Given the description of an element on the screen output the (x, y) to click on. 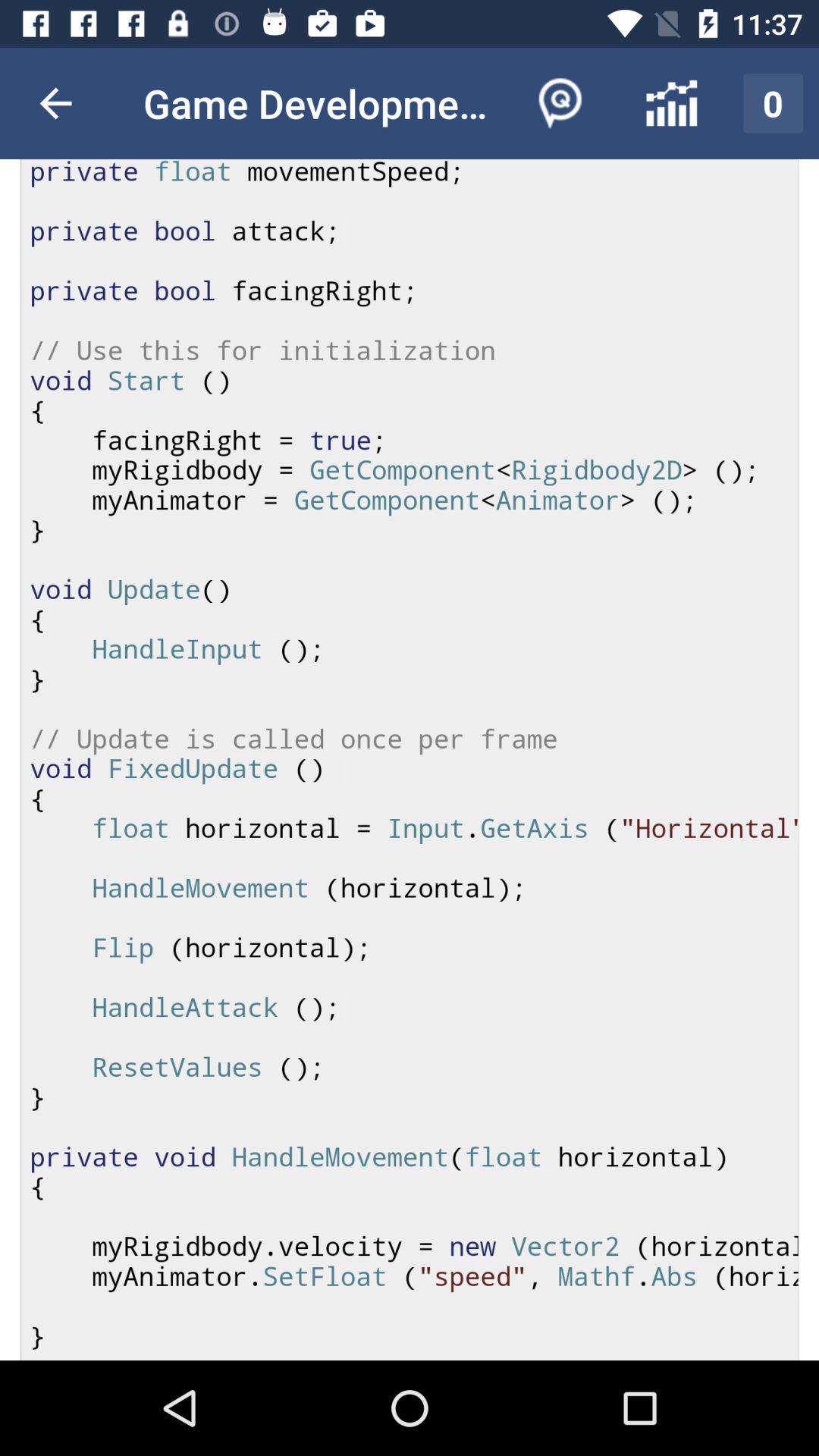
program button (409, 759)
